Given the description of an element on the screen output the (x, y) to click on. 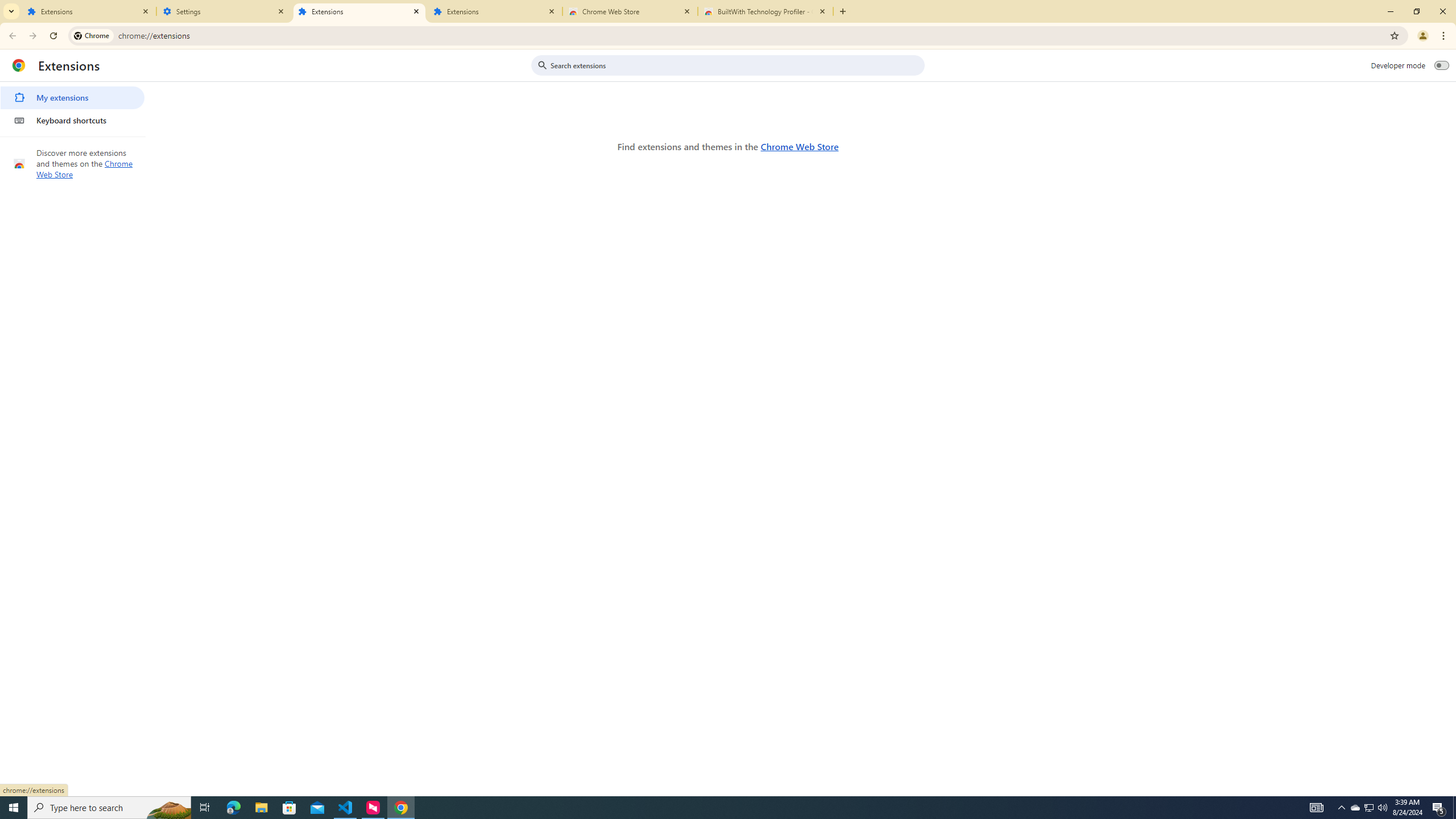
Address and search bar (750, 35)
Developer mode (1442, 64)
Extensions (359, 11)
AutomationID: sectionMenu (72, 106)
BuiltWith Technology Profiler - Chrome Web Store (765, 11)
